Given the description of an element on the screen output the (x, y) to click on. 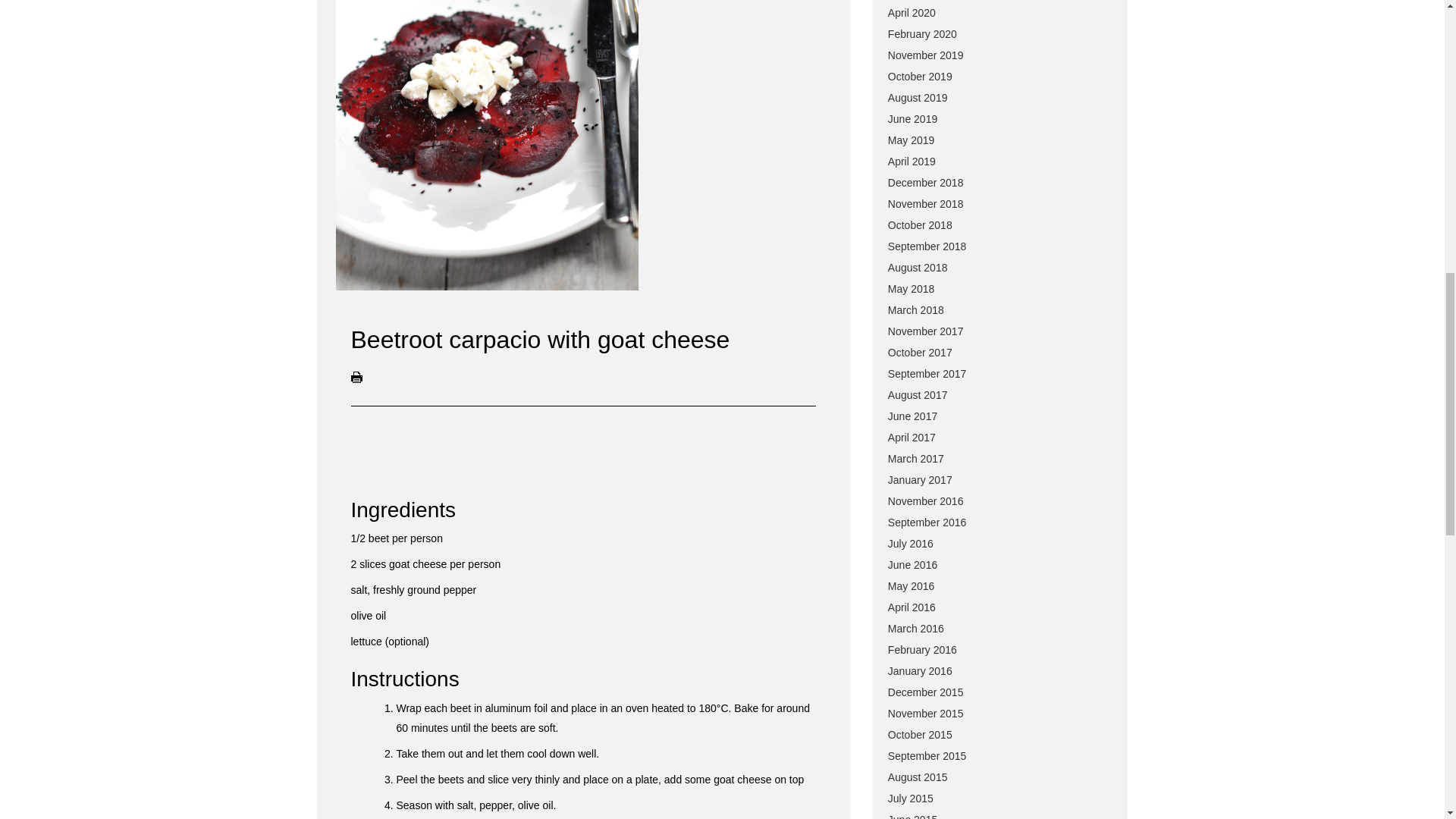
April 2020 (912, 12)
November 2019 (925, 55)
October 2019 (920, 76)
February 2020 (922, 33)
Print this recipe (361, 379)
